Given the description of an element on the screen output the (x, y) to click on. 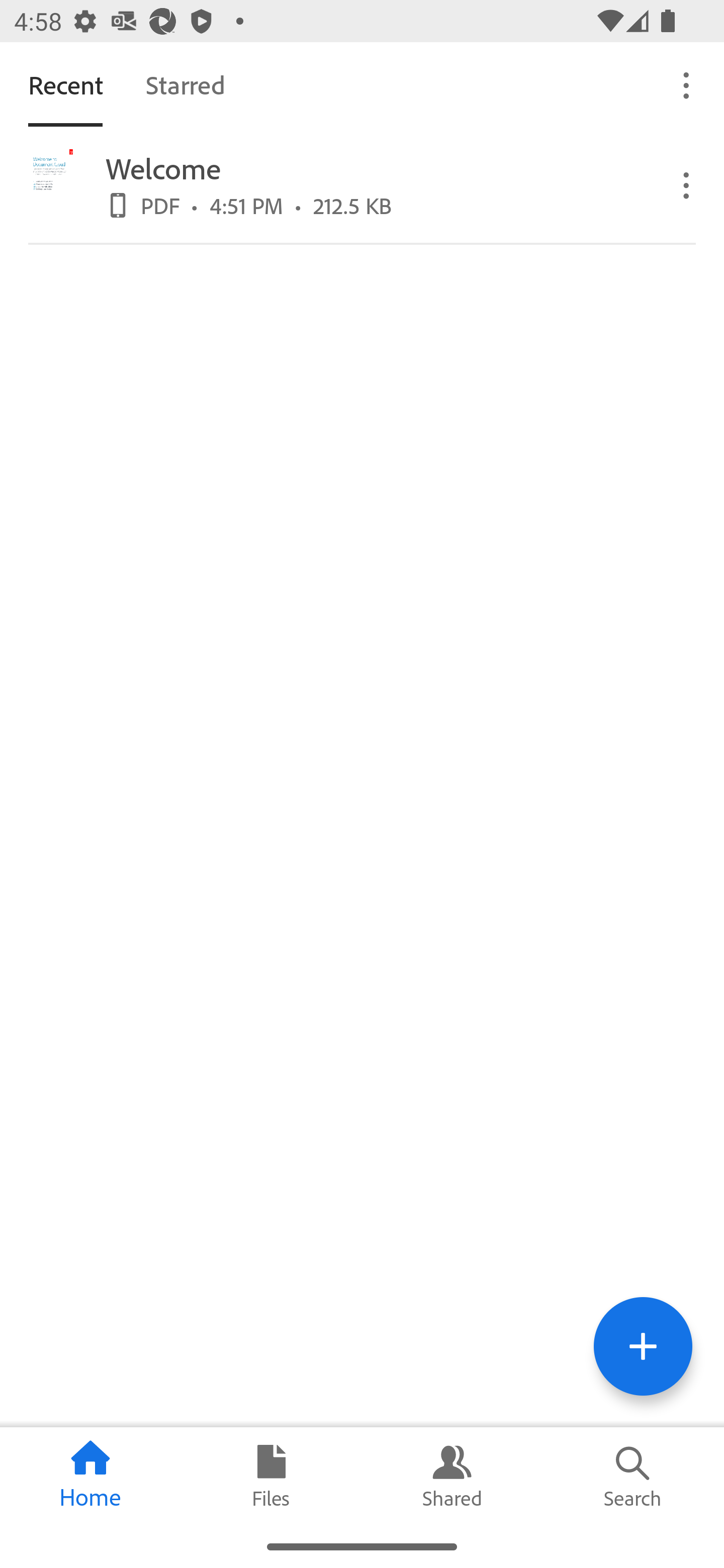
Recent (65, 84)
Starred (185, 84)
Overflow (687, 84)
Overflow (687, 184)
Tools (642, 1345)
Home (90, 1475)
Files (271, 1475)
Shared (452, 1475)
Search (633, 1475)
